Given the description of an element on the screen output the (x, y) to click on. 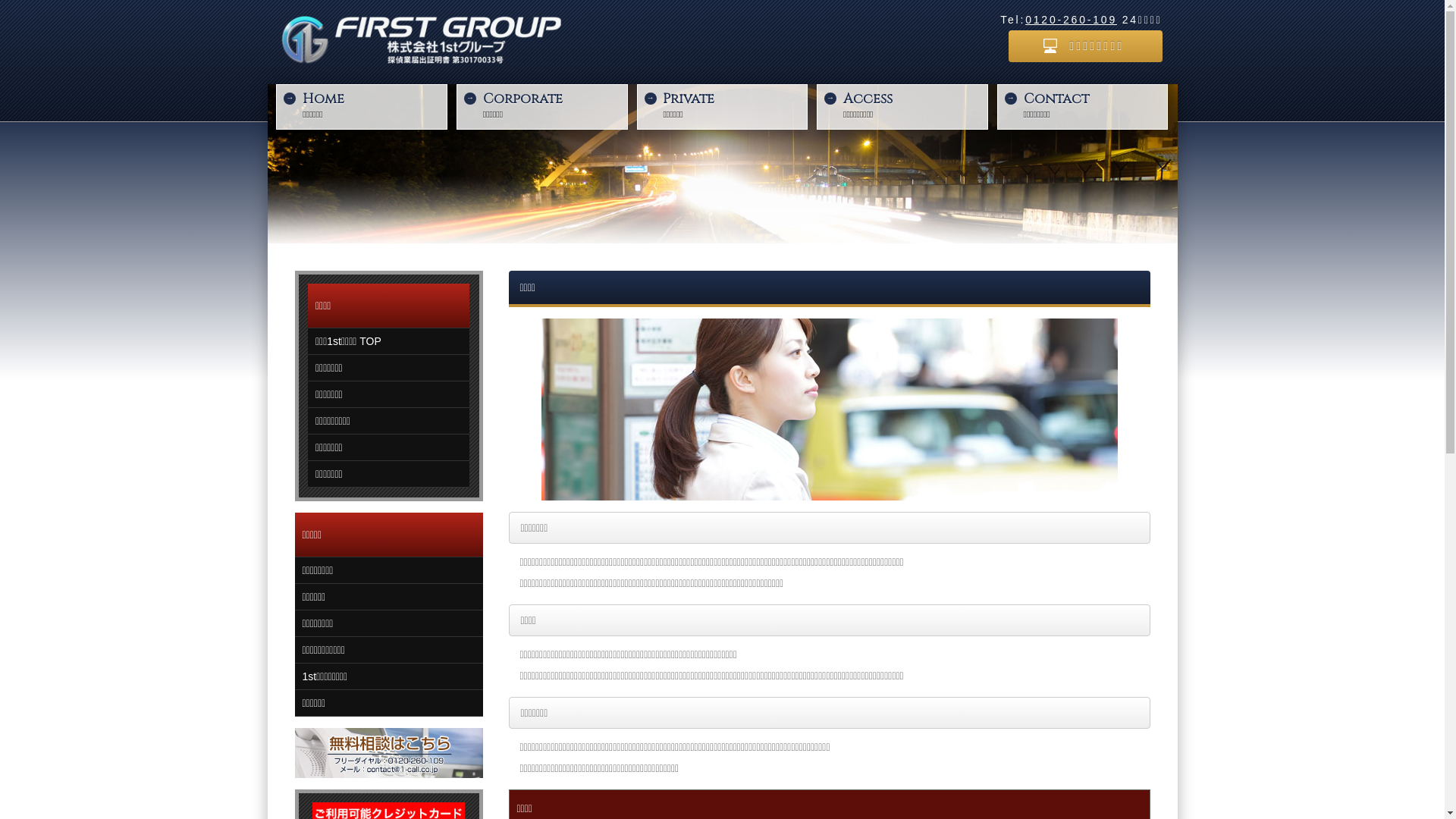
0120-260-109 Element type: text (1071, 19)
